Given the description of an element on the screen output the (x, y) to click on. 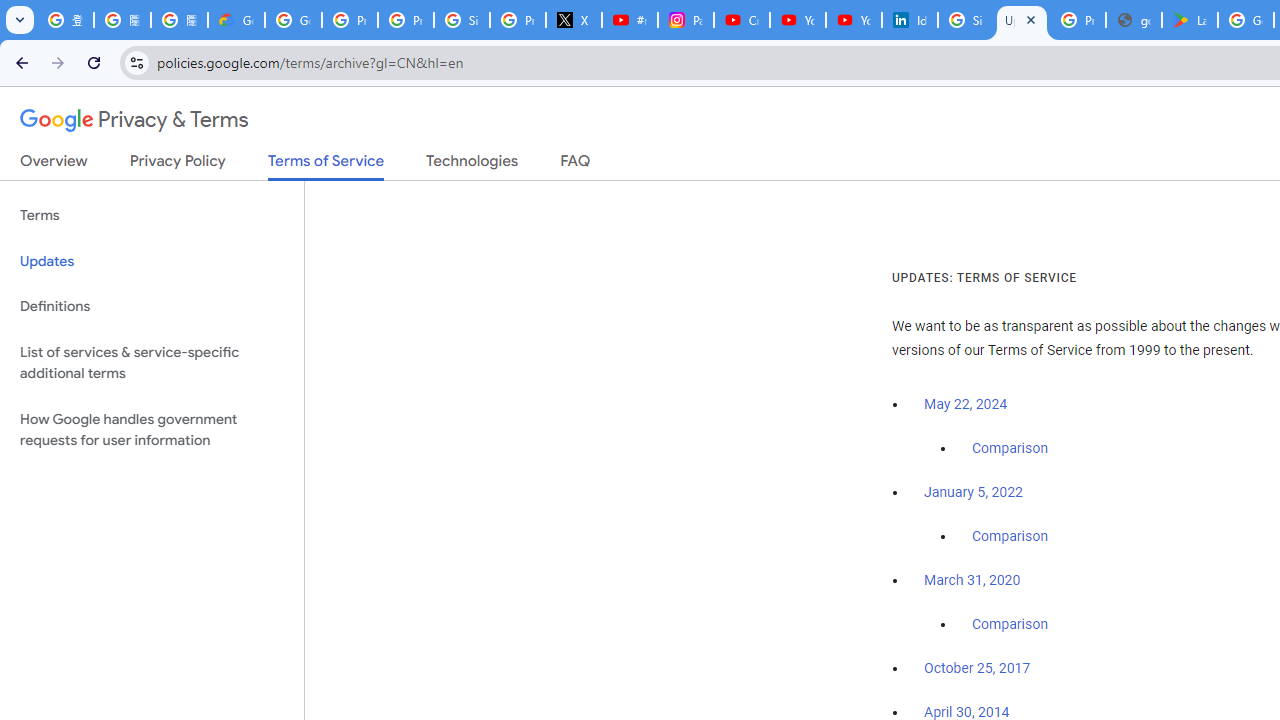
How Google handles government requests for user information (152, 429)
March 31, 2020 (972, 580)
Sign in - Google Accounts (461, 20)
Google Cloud Privacy Notice (235, 20)
